Given the description of an element on the screen output the (x, y) to click on. 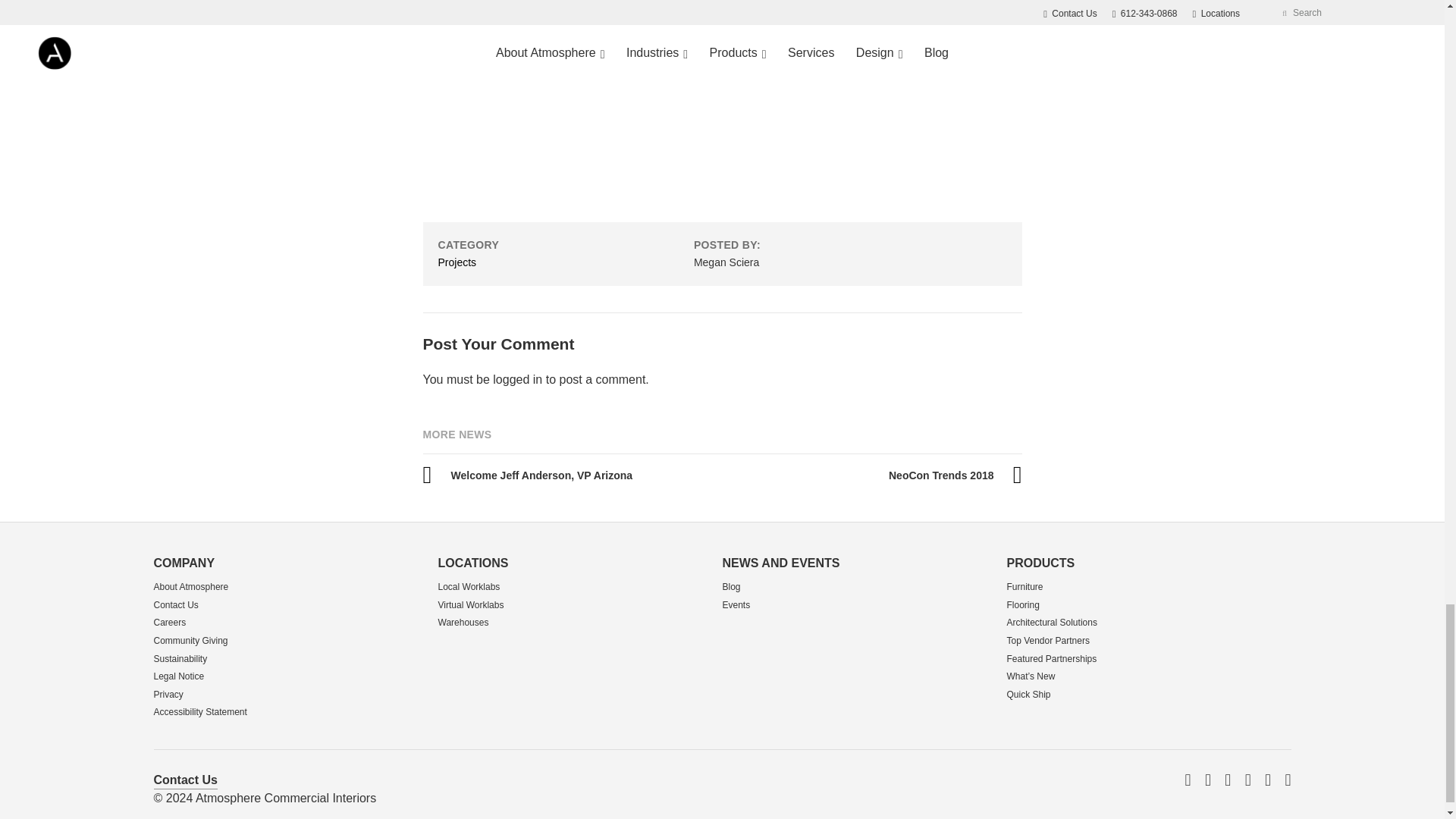
Welcome Jeff Anderson, VP Arizona (528, 474)
Community Giving (189, 640)
logged in (517, 379)
Contact Us (175, 604)
Legal Notice (177, 675)
Privacy (167, 694)
Accessibility Statement (199, 711)
LOCATIONS (473, 562)
About Atmosphere (190, 586)
NeoCon Trends 2018 (955, 474)
COMPANY (183, 562)
Careers (169, 622)
Sustainability (179, 658)
Projects (457, 262)
Local Worklabs (469, 586)
